Given the description of an element on the screen output the (x, y) to click on. 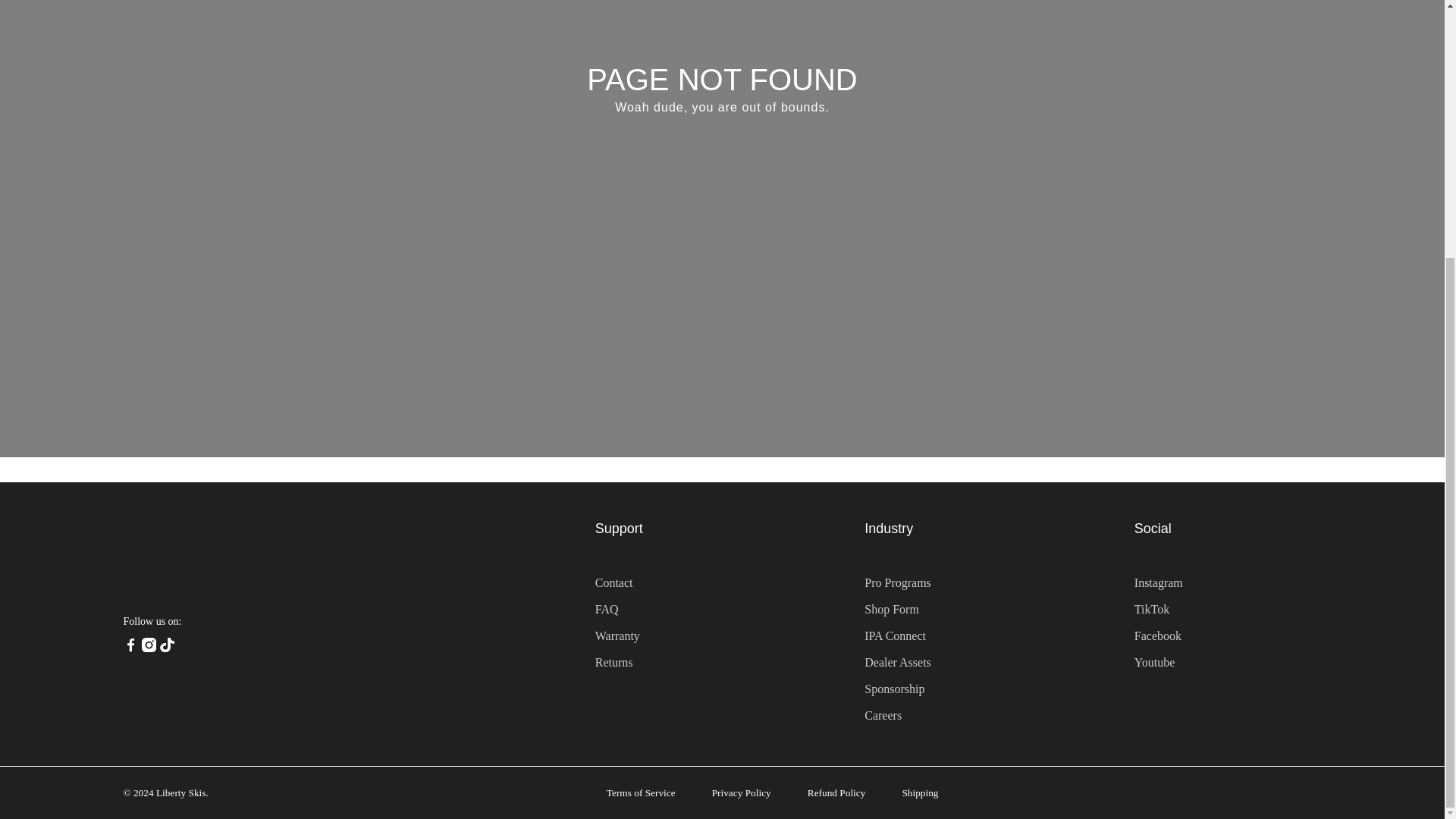
Liberty Skis on TikTok (167, 647)
Liberty Skis (219, 558)
Liberty Skis on Facebook (129, 647)
Liberty Skis on Instagram (148, 647)
